Given the description of an element on the screen output the (x, y) to click on. 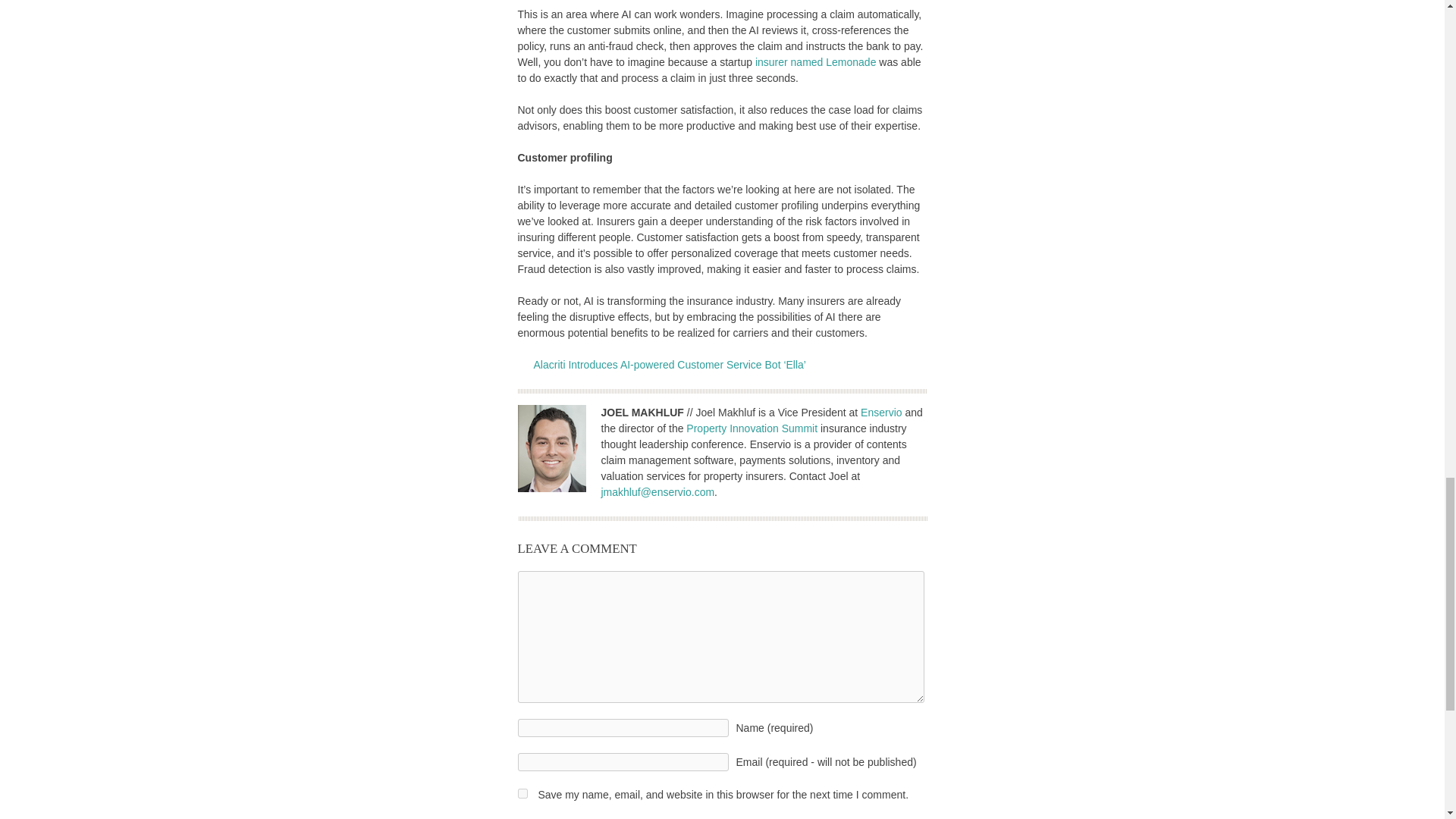
yes (521, 793)
Property Innovation Summit (750, 428)
insurer named Lemonade (815, 61)
Enservio (880, 412)
